Given the description of an element on the screen output the (x, y) to click on. 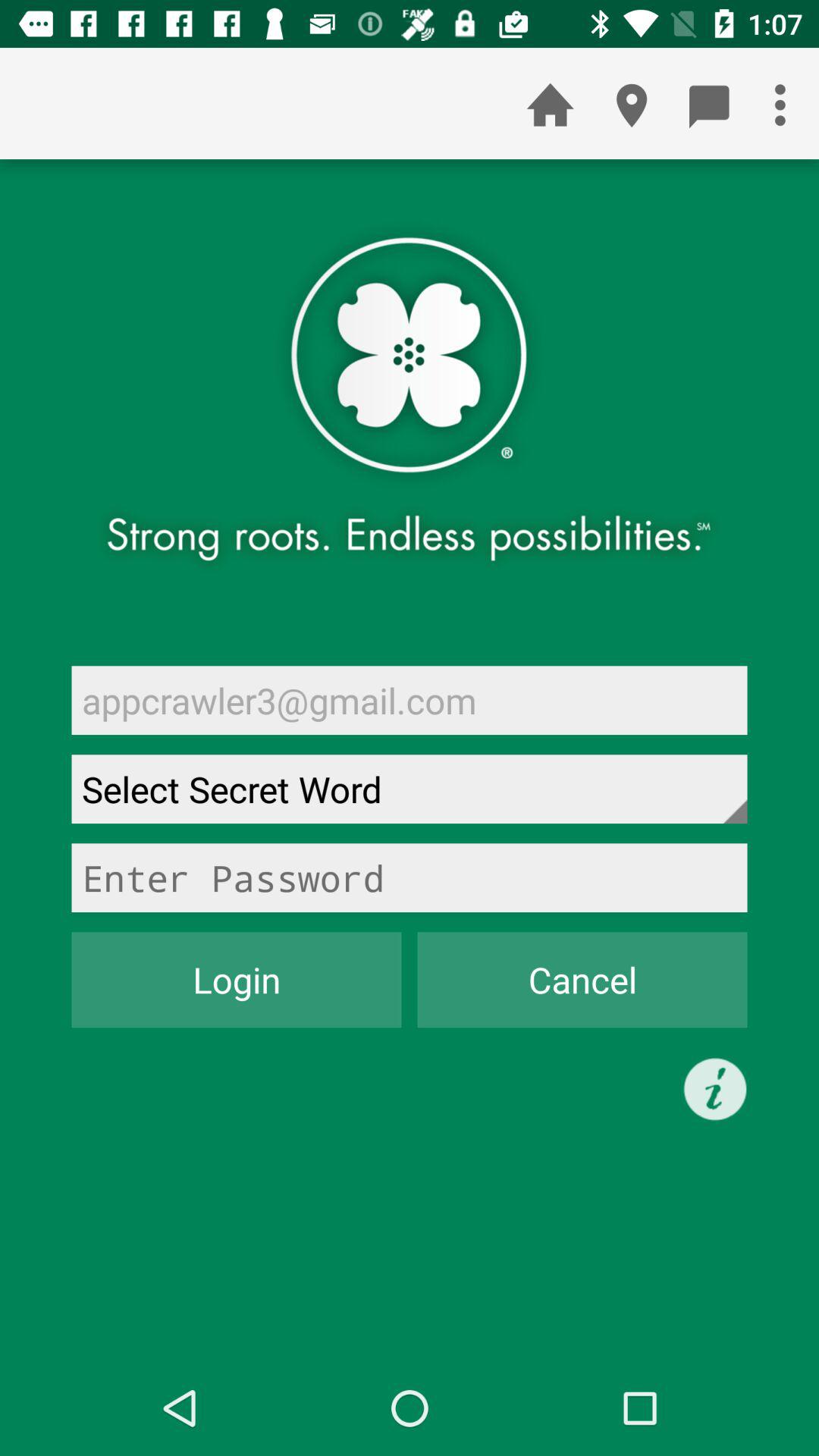
choose login item (236, 979)
